Given the description of an element on the screen output the (x, y) to click on. 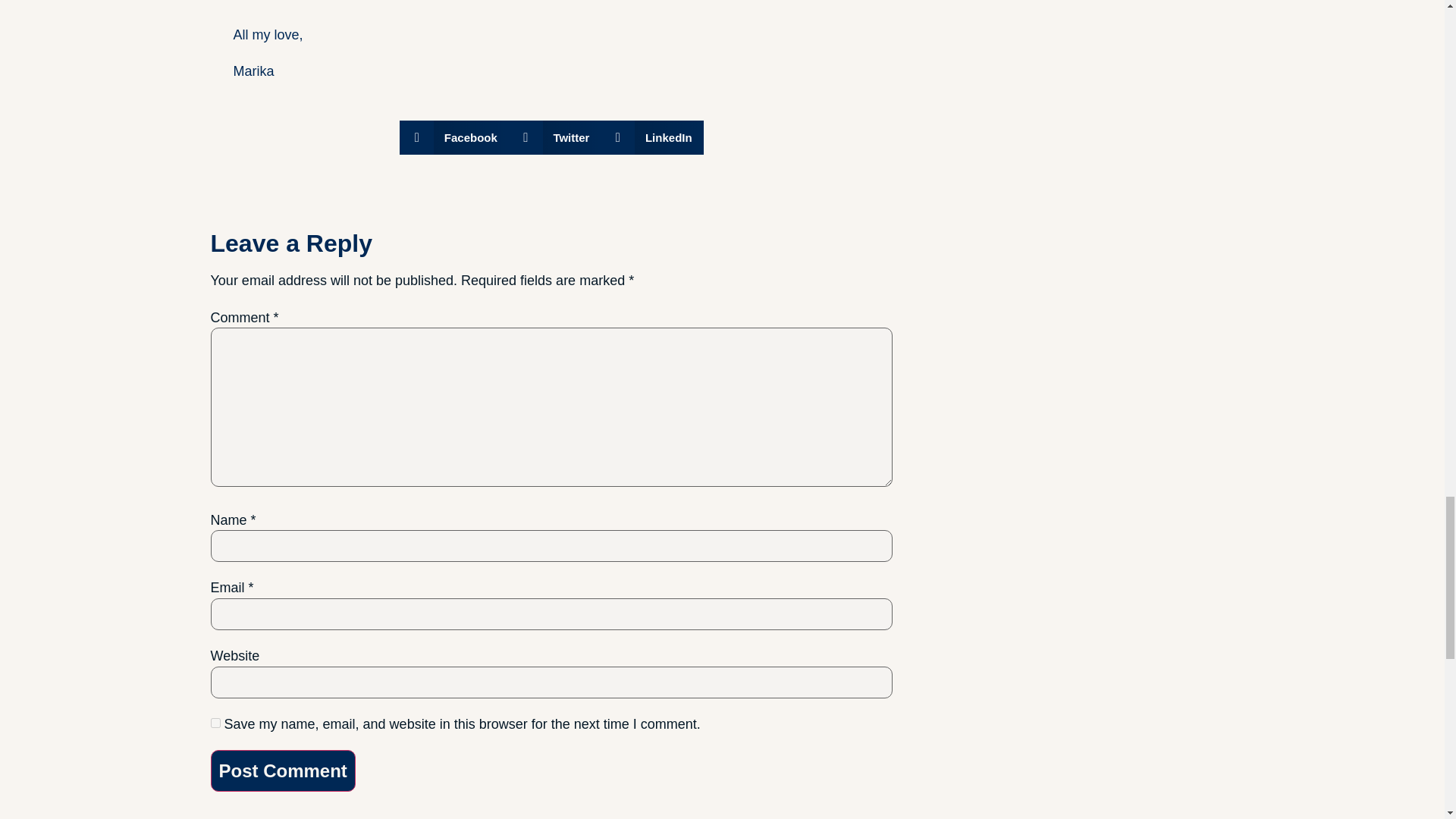
Post Comment (283, 771)
Post Comment (283, 771)
yes (216, 723)
